Given the description of an element on the screen output the (x, y) to click on. 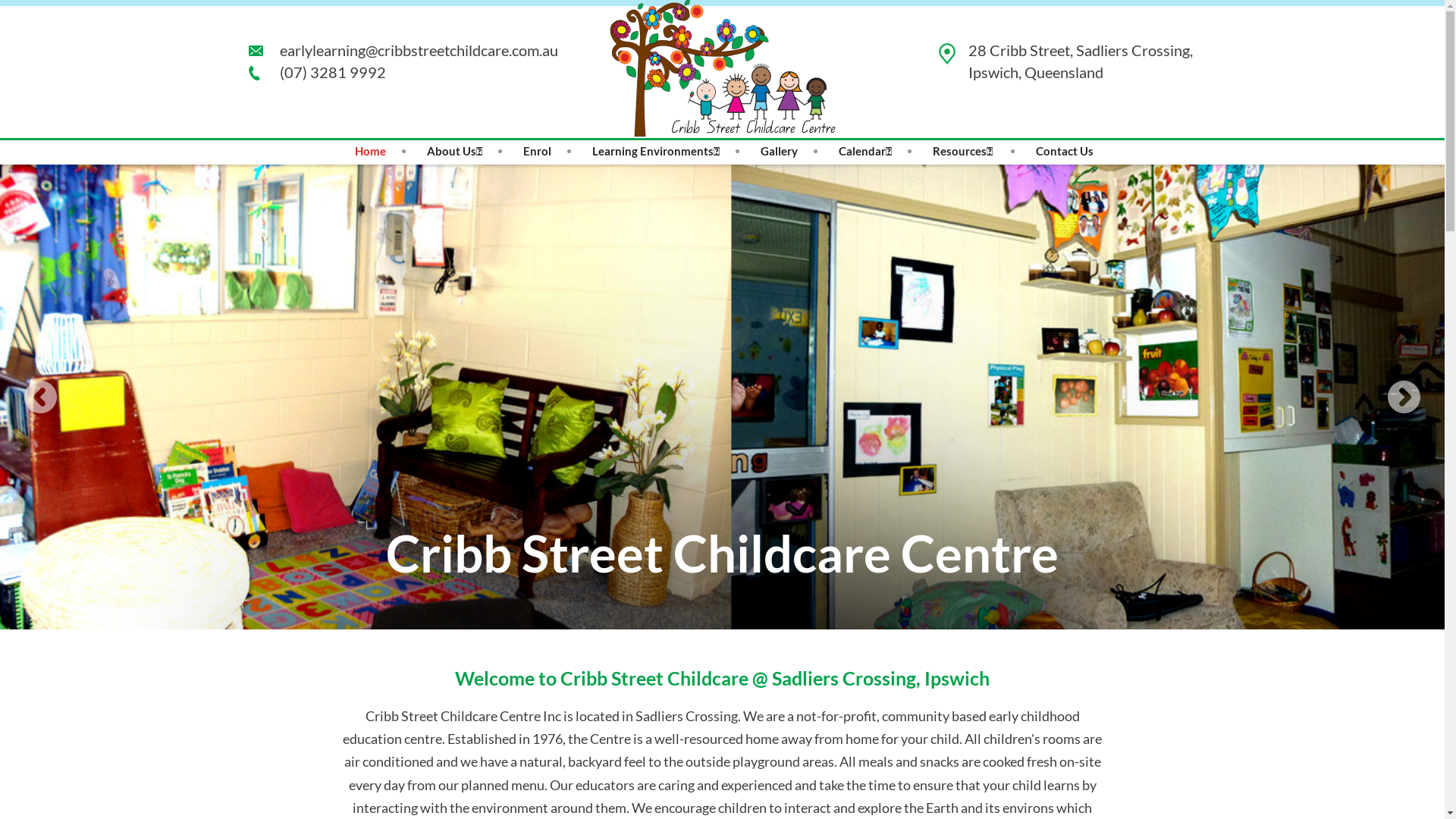
Gallery Element type: text (778, 150)
Home Element type: text (369, 150)
28 Cribb Street, Sadliers Crossing, Ipswich, Queensland Element type: text (1067, 61)
(07) 3281 9992 Element type: text (316, 72)
earlylearning@cribbstreetchildcare.com.au Element type: text (403, 50)
Contact Us Element type: text (1064, 150)
Enrol Element type: text (537, 150)
